Given the description of an element on the screen output the (x, y) to click on. 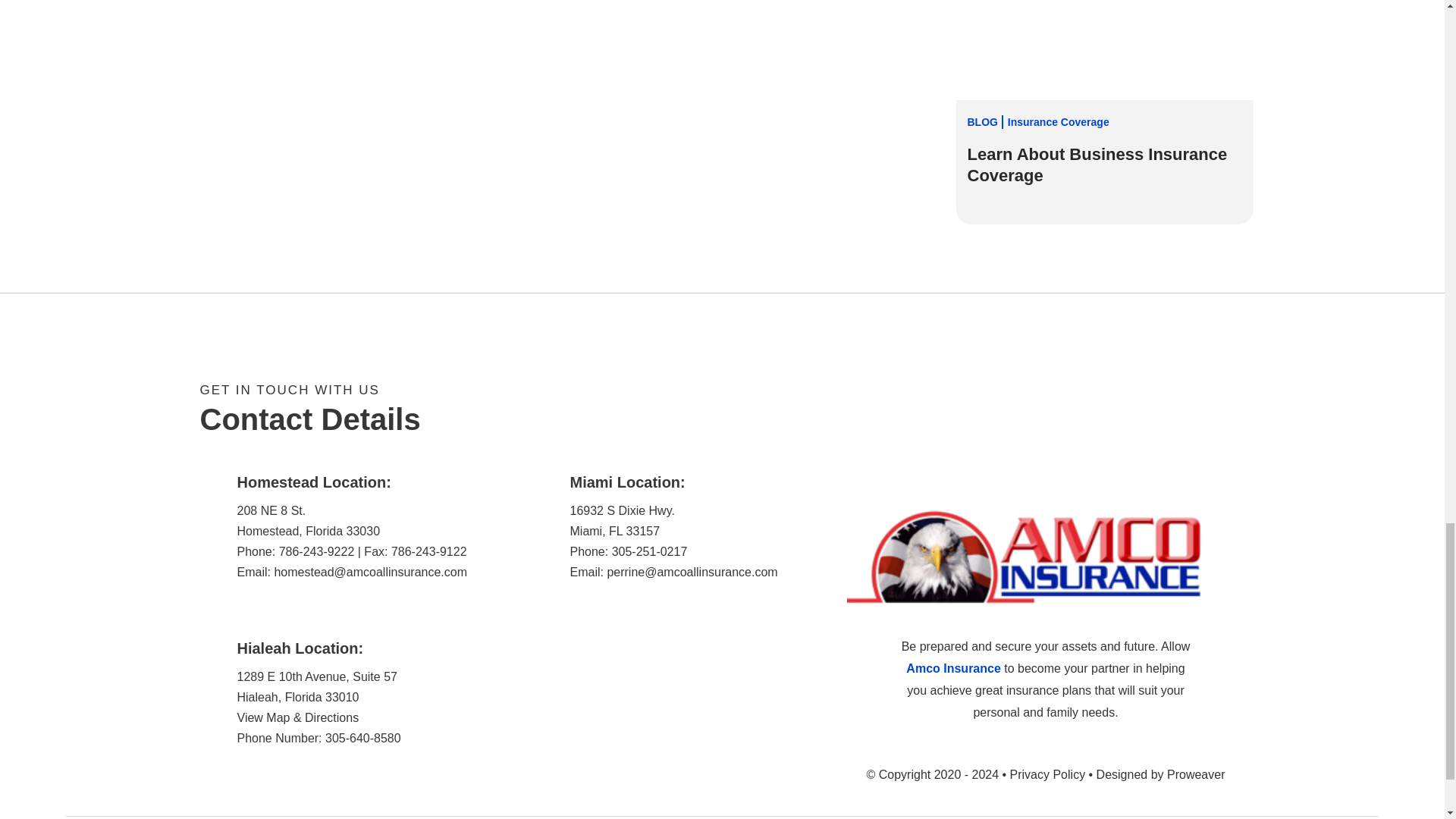
Learn About Business Insurance Coverage (1104, 165)
Insurance Coverage (1058, 121)
BLOG (986, 121)
